Given the description of an element on the screen output the (x, y) to click on. 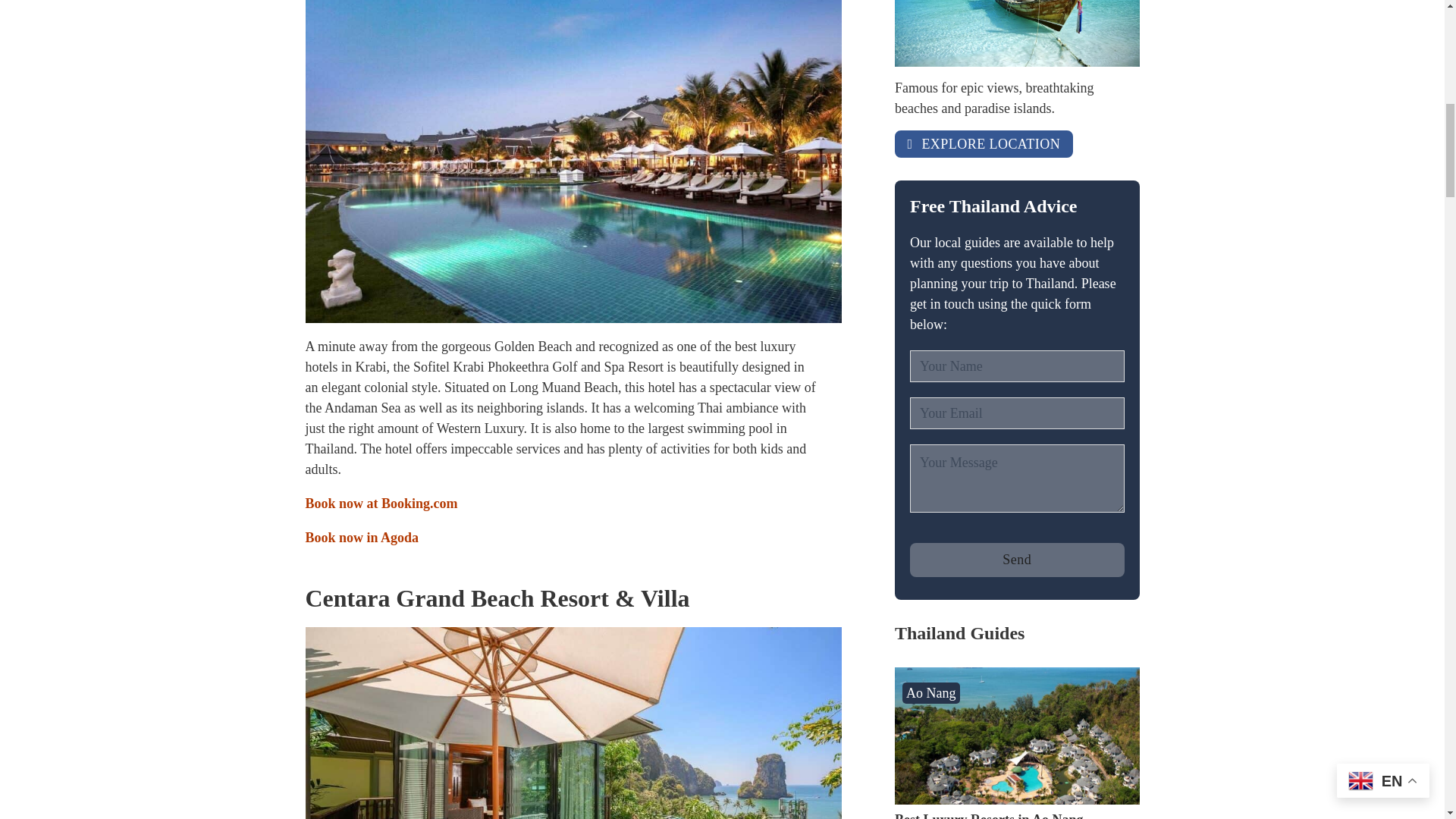
Luxury Hotels In Krabi (572, 723)
